Given the description of an element on the screen output the (x, y) to click on. 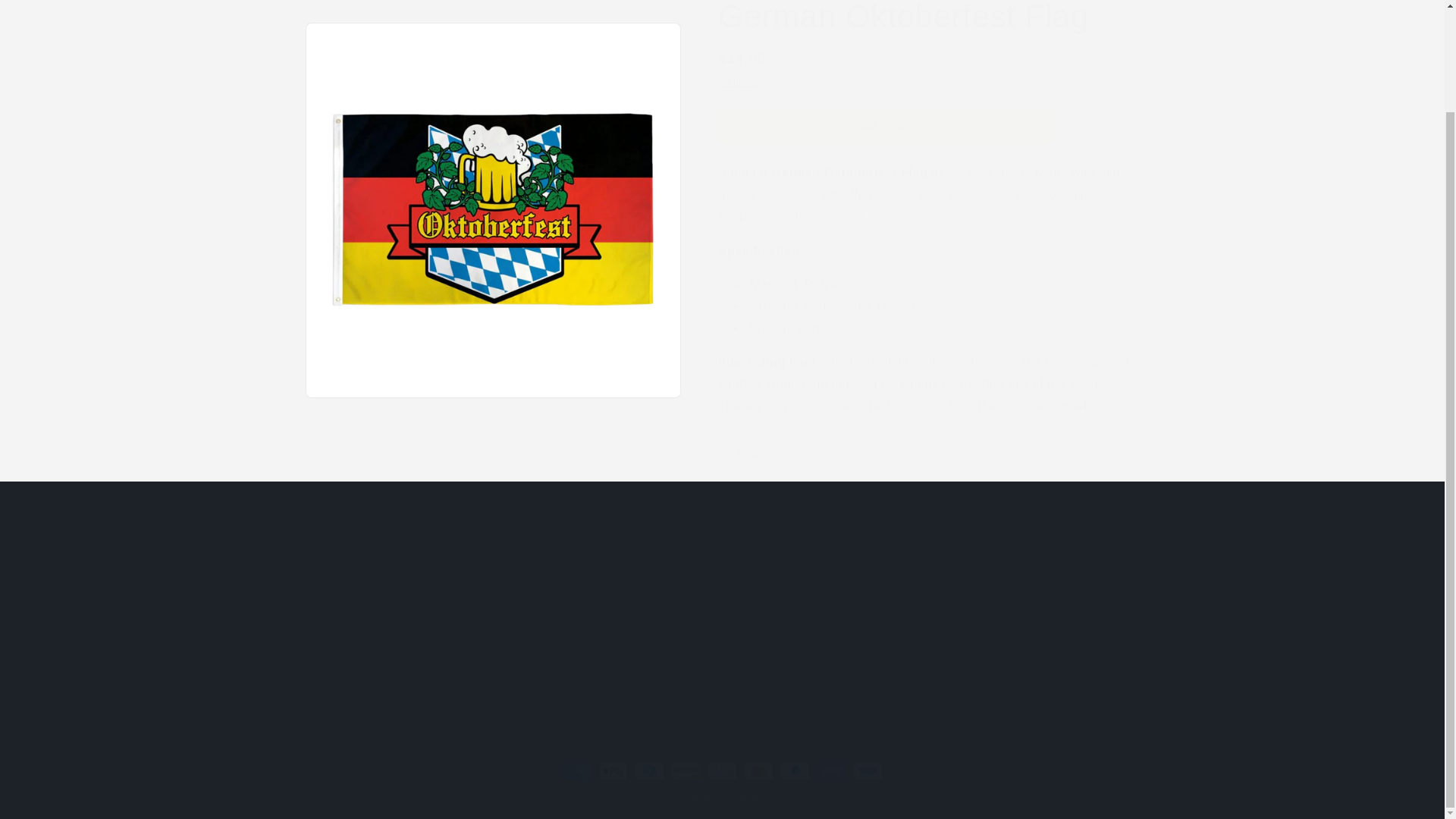
0 (827, 620)
